Given the description of an element on the screen output the (x, y) to click on. 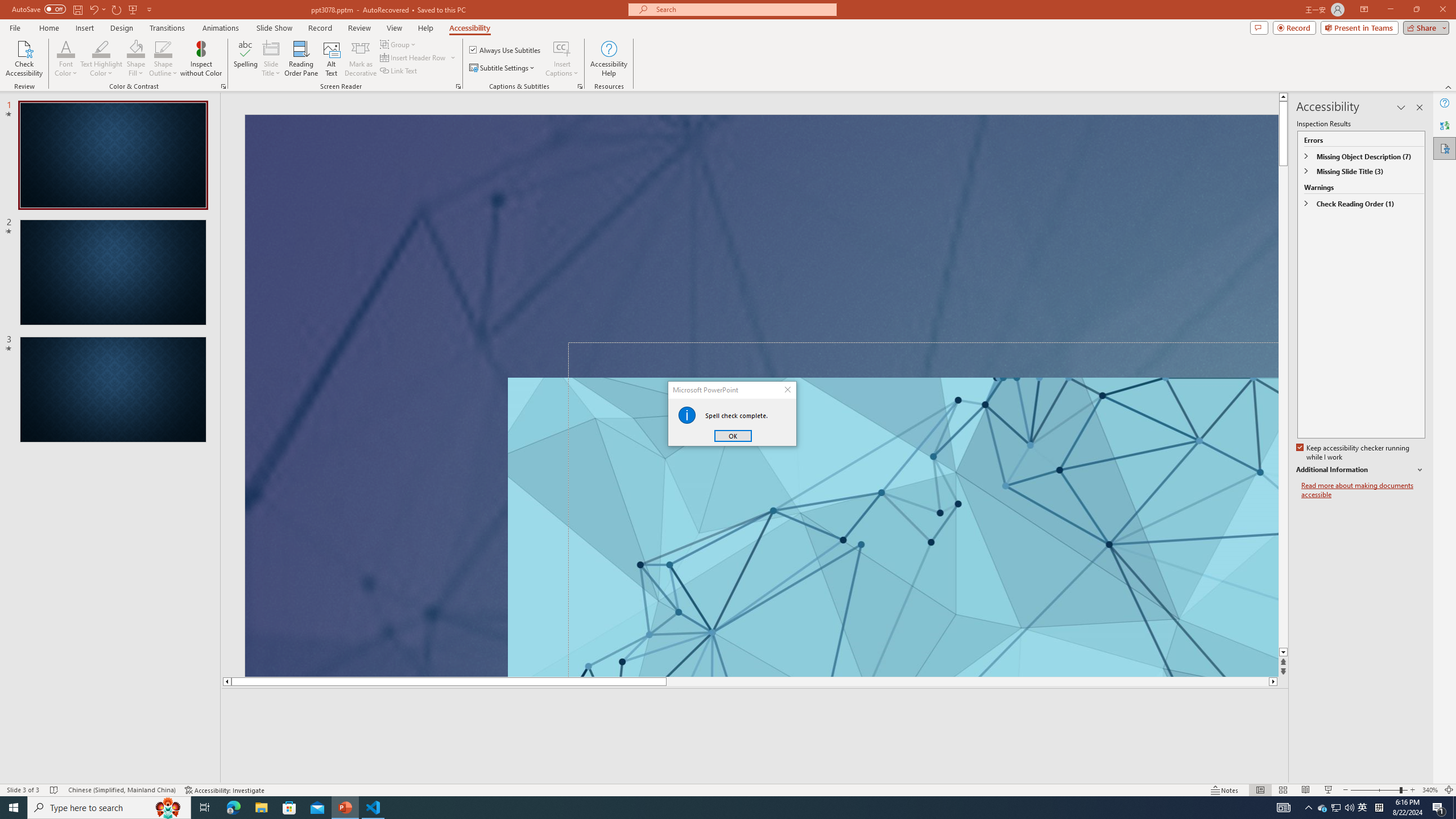
Insert Header Row (413, 56)
Captions & Subtitles (1362, 807)
Start (580, 85)
